Given the description of an element on the screen output the (x, y) to click on. 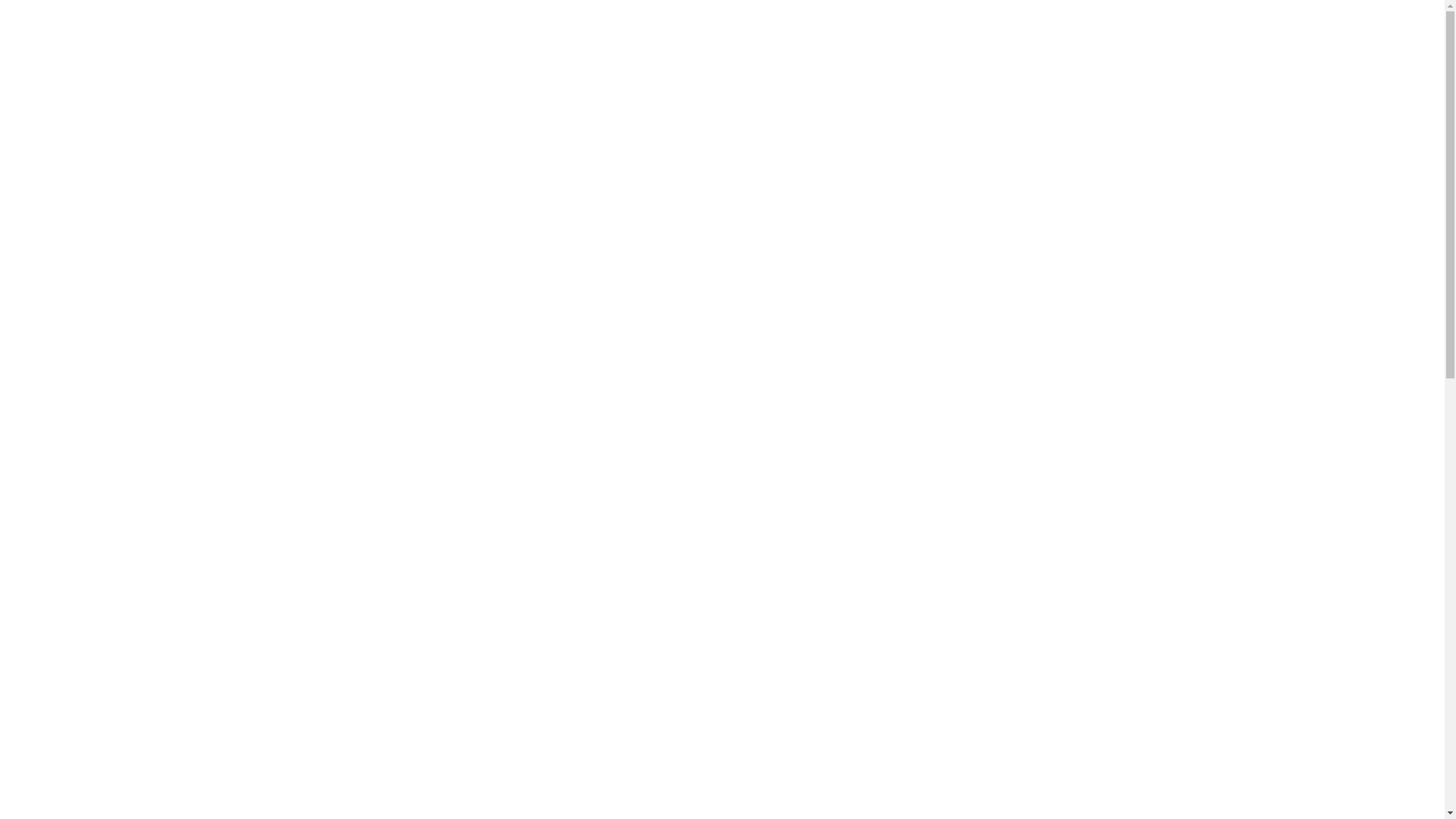
Seaside Markets Element type: text (731, 48)
02 4232 2124 Element type: text (1060, 209)
Home Element type: text (561, 48)
About Element type: text (832, 48)
Members Element type: text (611, 48)
Contact Element type: text (878, 48)
Visit Website Element type: text (1060, 280)
Events Element type: text (663, 48)
Jobs Element type: text (794, 48)
holiday@eastsbeach.com.au Element type: text (1060, 243)
Back to Members Element type: text (269, 71)
